Given the description of an element on the screen output the (x, y) to click on. 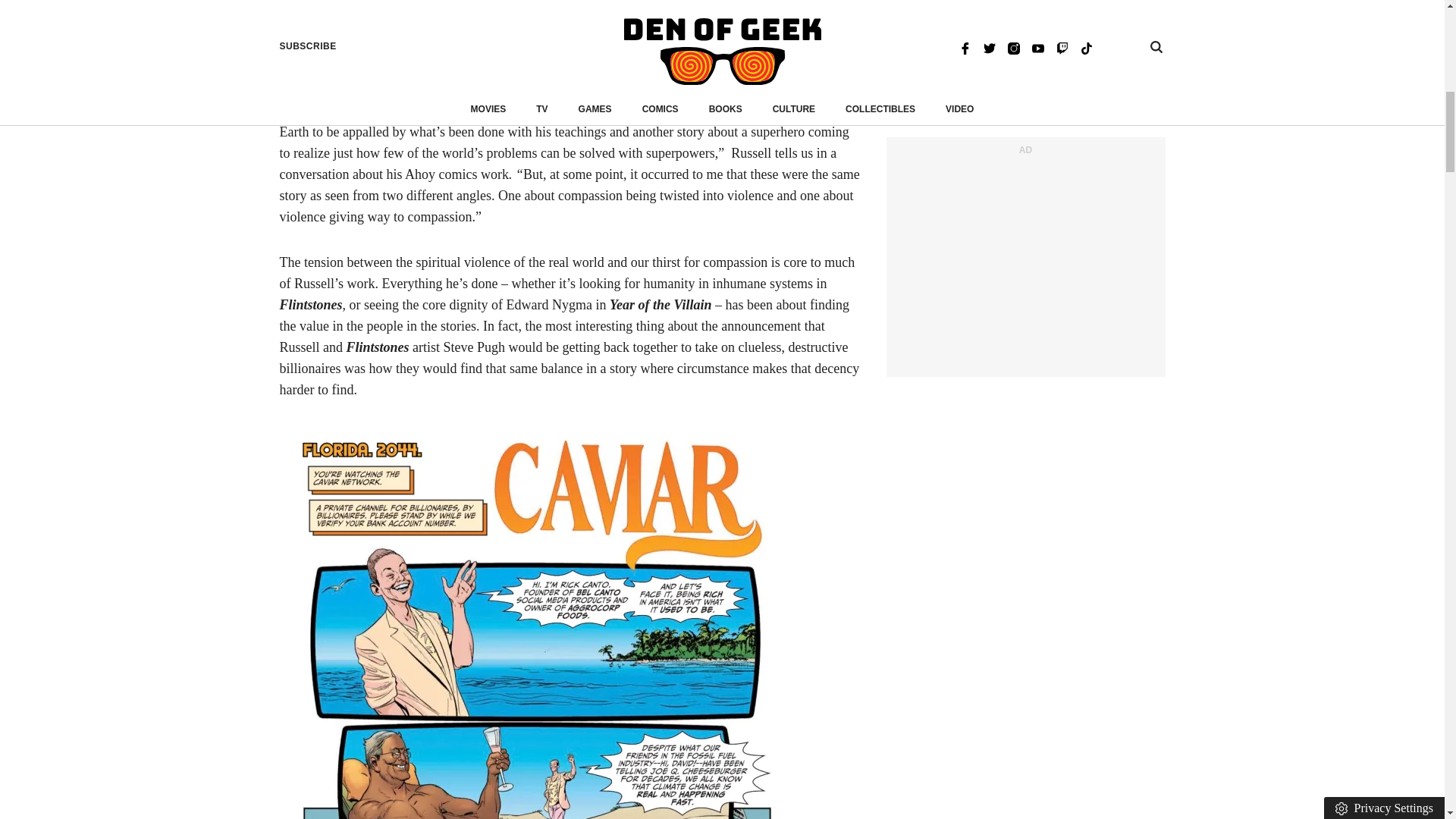
Second Coming (486, 22)
